Given the description of an element on the screen output the (x, y) to click on. 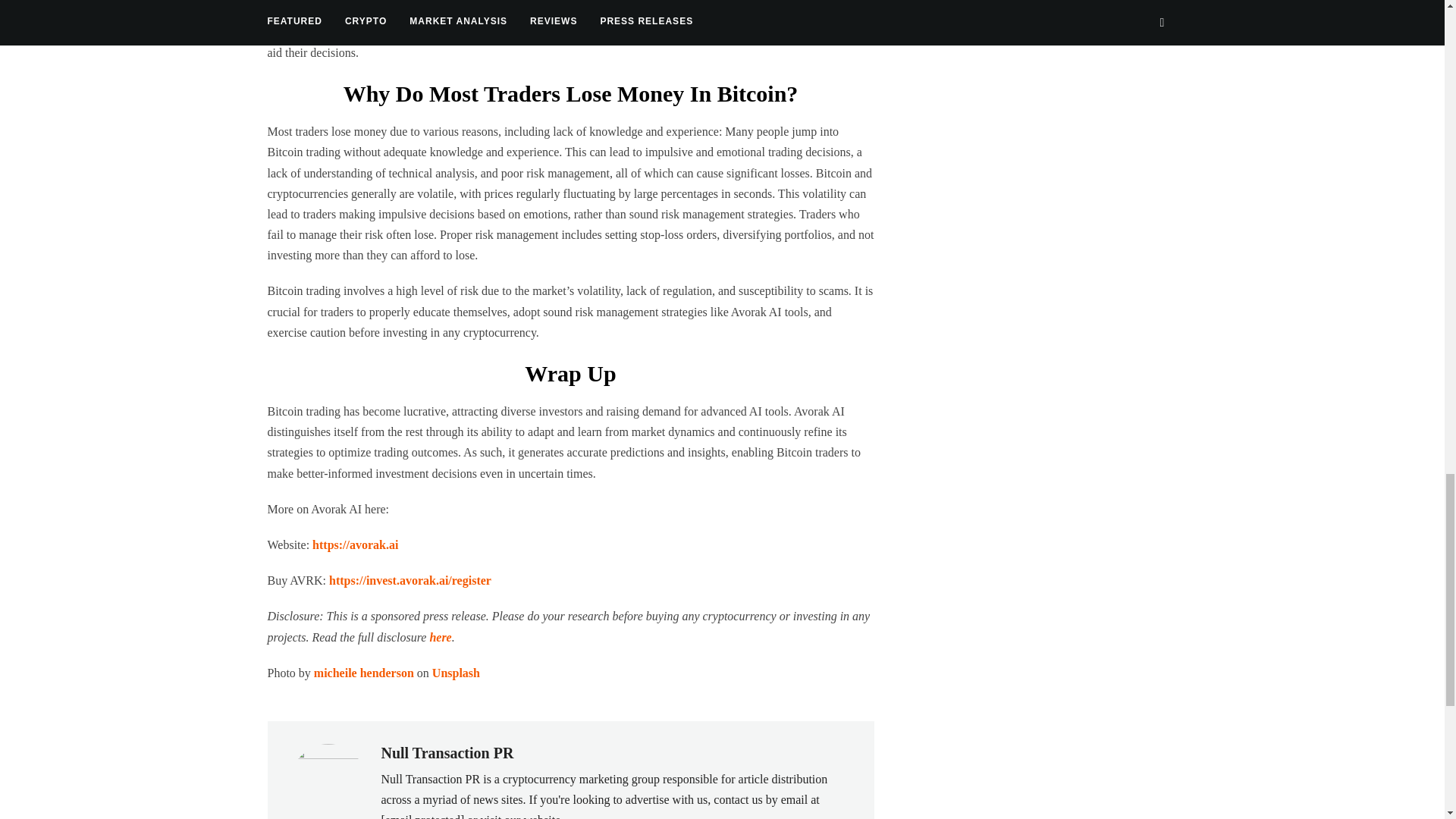
Posts by Null Transaction PR (446, 752)
Null Transaction PR (446, 752)
micheile henderson (363, 672)
Null Transaction PR (430, 779)
Unsplash (456, 672)
here (440, 636)
